Given the description of an element on the screen output the (x, y) to click on. 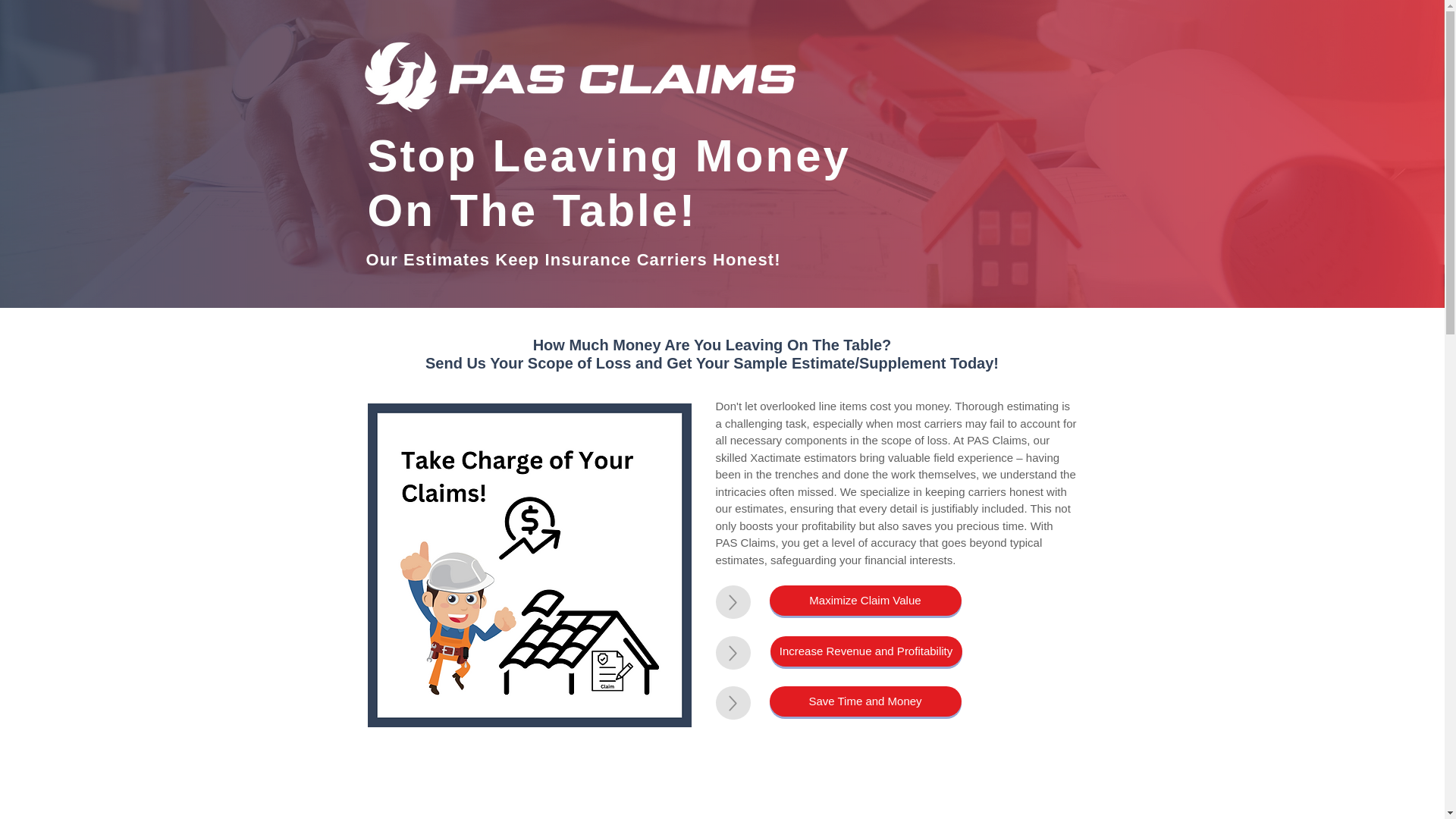
1199946340285490 - Blue Aspen - 1x1 - JD (576, 79)
